Given the description of an element on the screen output the (x, y) to click on. 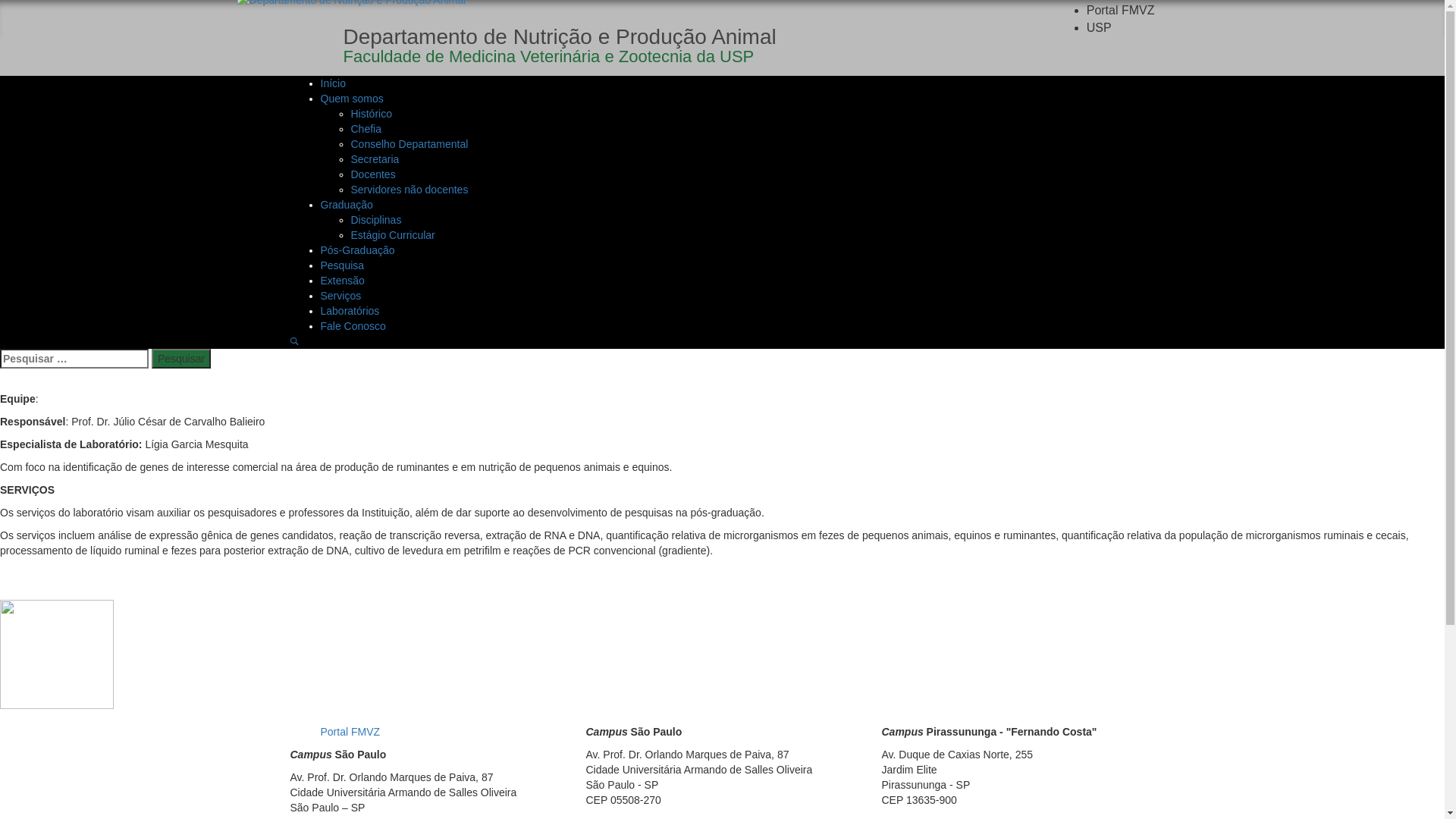
Secretaria Element type: text (374, 159)
Portal FMVZ Element type: text (349, 731)
USP Element type: text (1098, 27)
Quem somos Element type: text (351, 98)
Pesquisar Element type: text (180, 358)
Pesquisa Element type: text (342, 265)
Portal FMVZ Element type: text (1120, 9)
Disciplinas Element type: text (375, 219)
Chefia Element type: text (365, 128)
Fale Conosco Element type: text (352, 326)
Docentes Element type: text (372, 174)
Conselho Departamental Element type: text (408, 144)
